Given the description of an element on the screen output the (x, y) to click on. 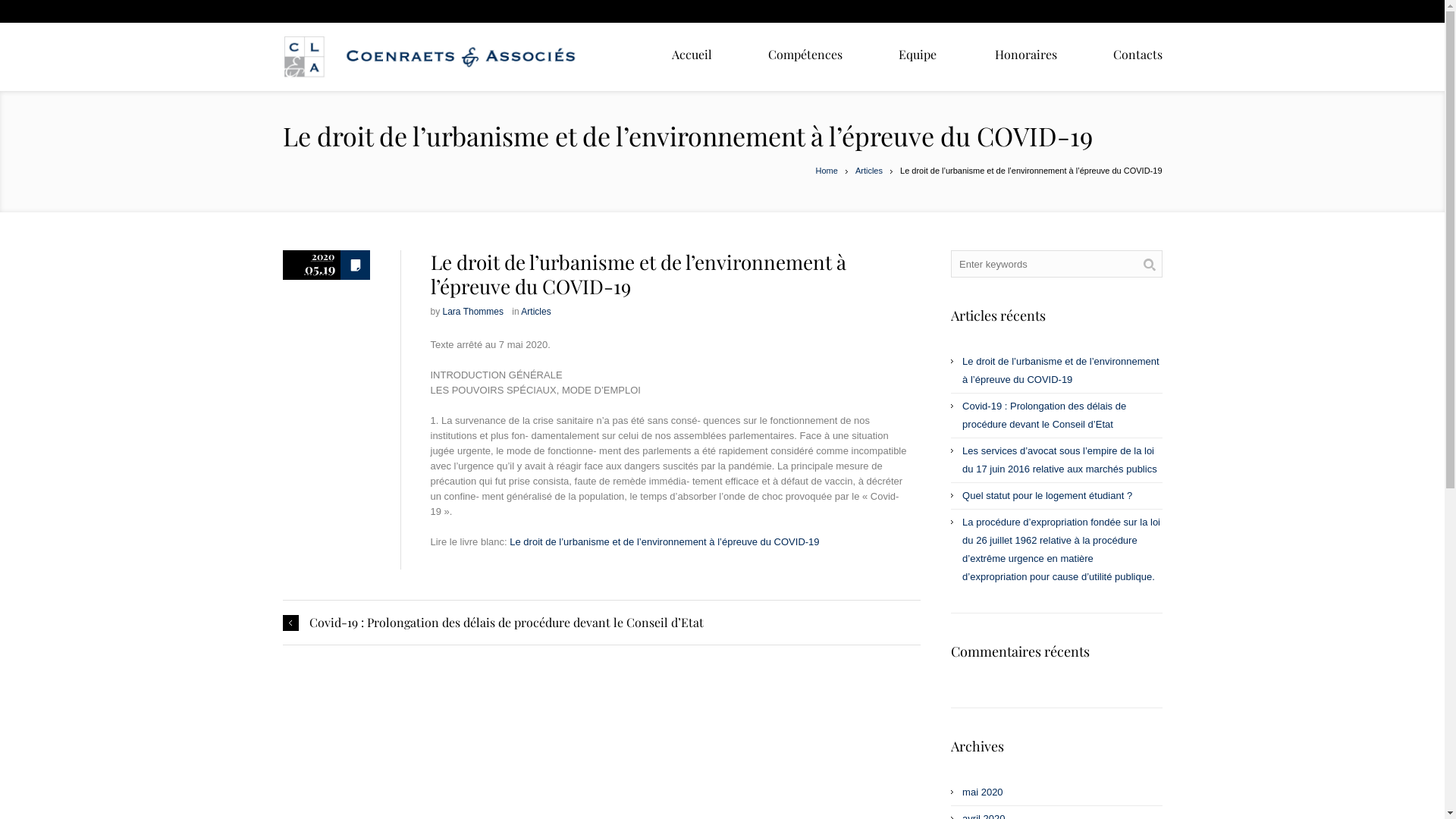
mai 2020 Element type: text (982, 791)
Accueil Element type: text (691, 54)
Home Element type: text (826, 170)
Honoraires Element type: text (1025, 54)
Contacts Element type: text (1137, 54)
Lara Thommes Element type: text (472, 311)
Articles Element type: text (868, 170)
Articles Element type: text (535, 311)
Equipe Element type: text (917, 54)
